Given the description of an element on the screen output the (x, y) to click on. 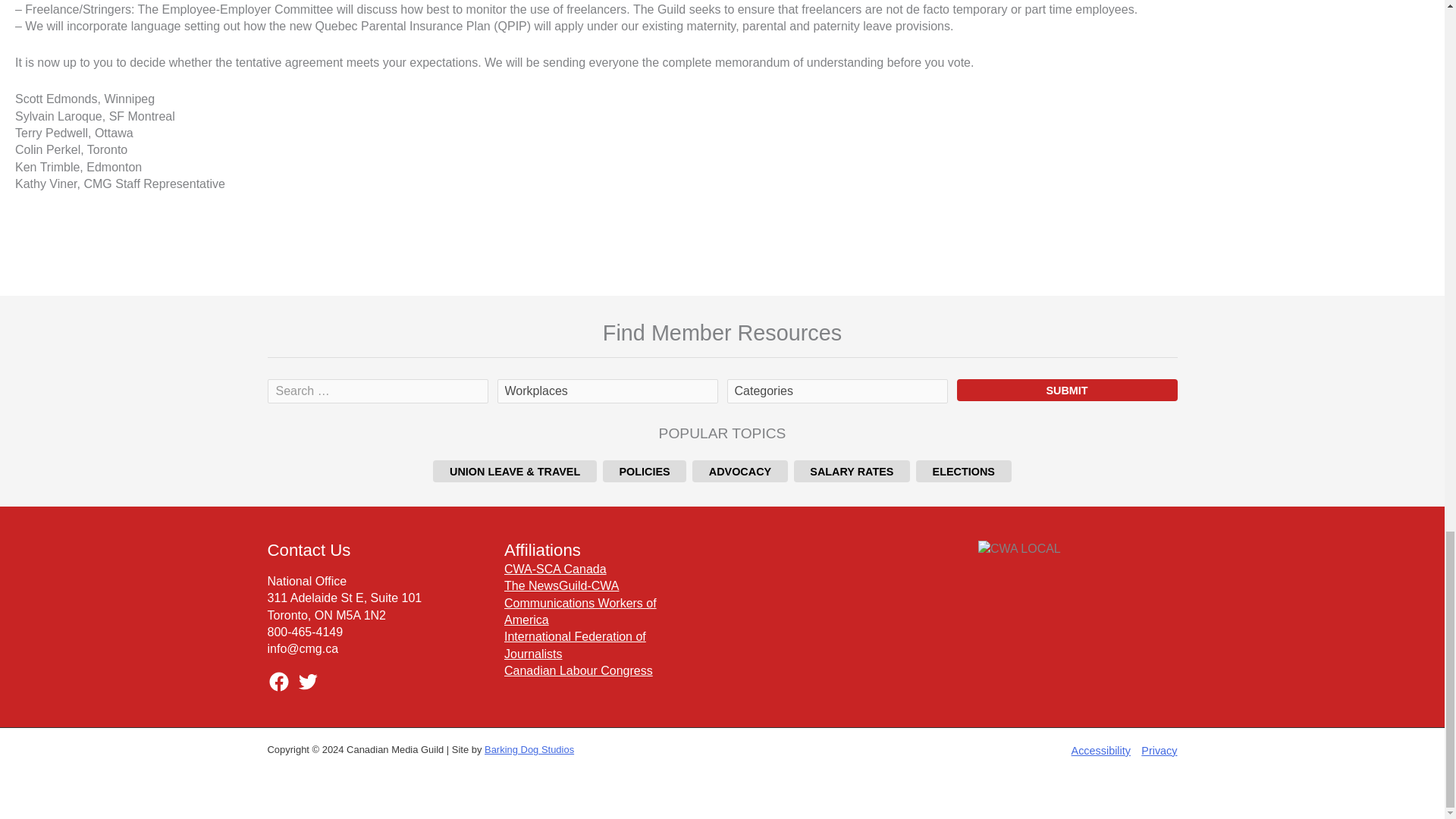
Categories (835, 391)
Workplaces (606, 391)
Submit (1066, 390)
